Given the description of an element on the screen output the (x, y) to click on. 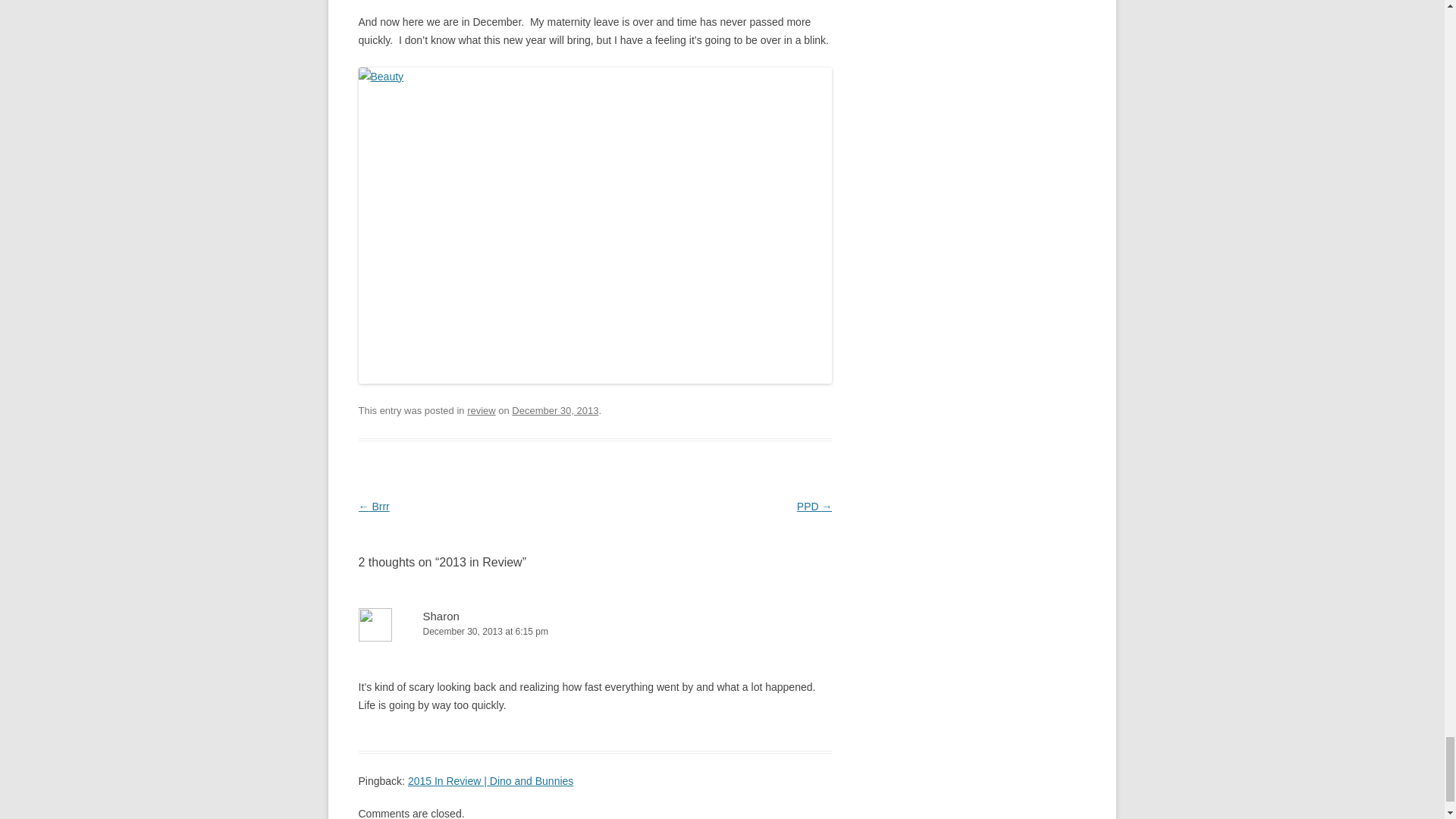
3:43 pm (555, 410)
December 30, 2013 at 6:15 pm (594, 631)
review (481, 410)
December 30, 2013 (555, 410)
